Given the description of an element on the screen output the (x, y) to click on. 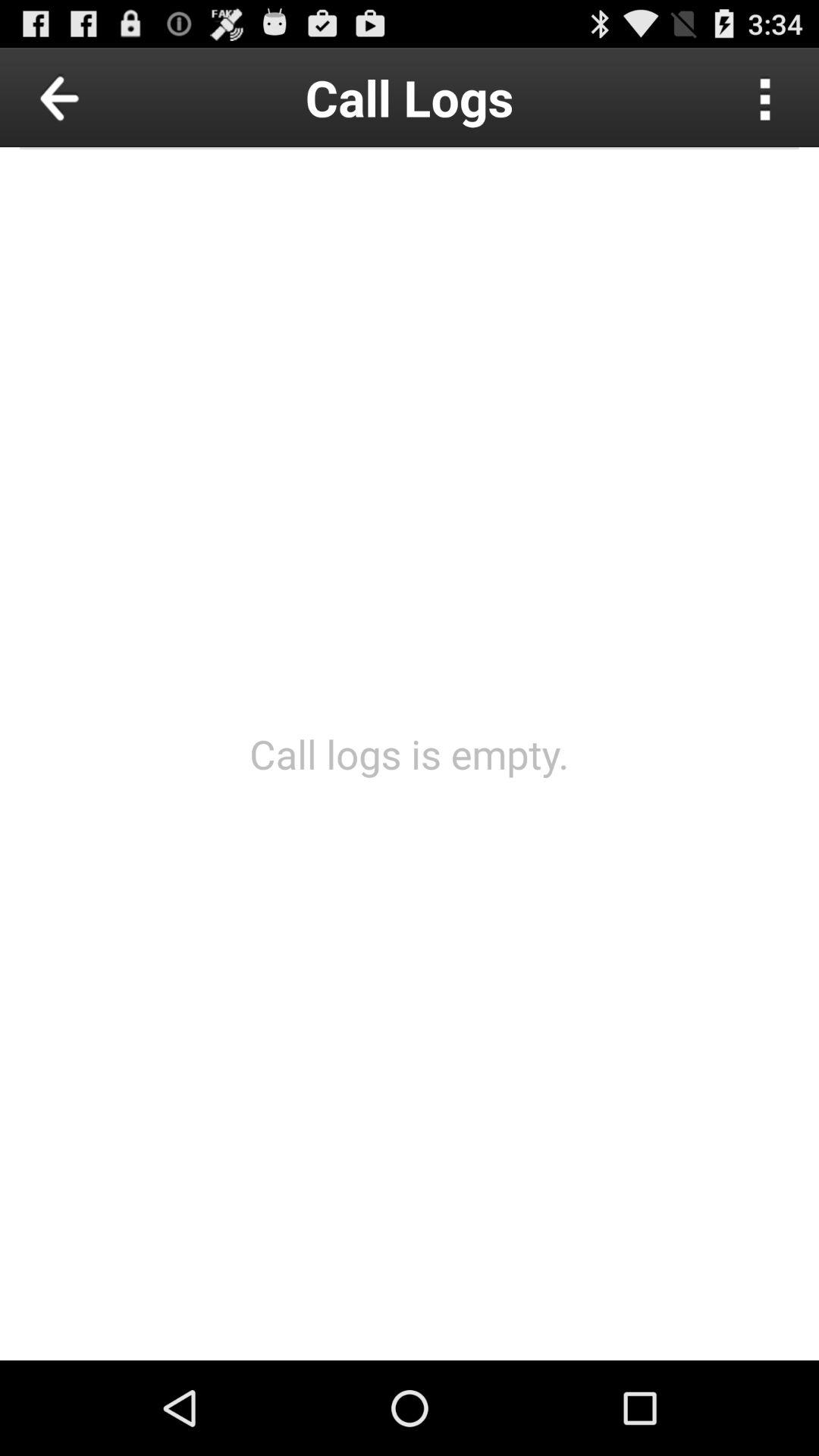
settings (765, 97)
